Given the description of an element on the screen output the (x, y) to click on. 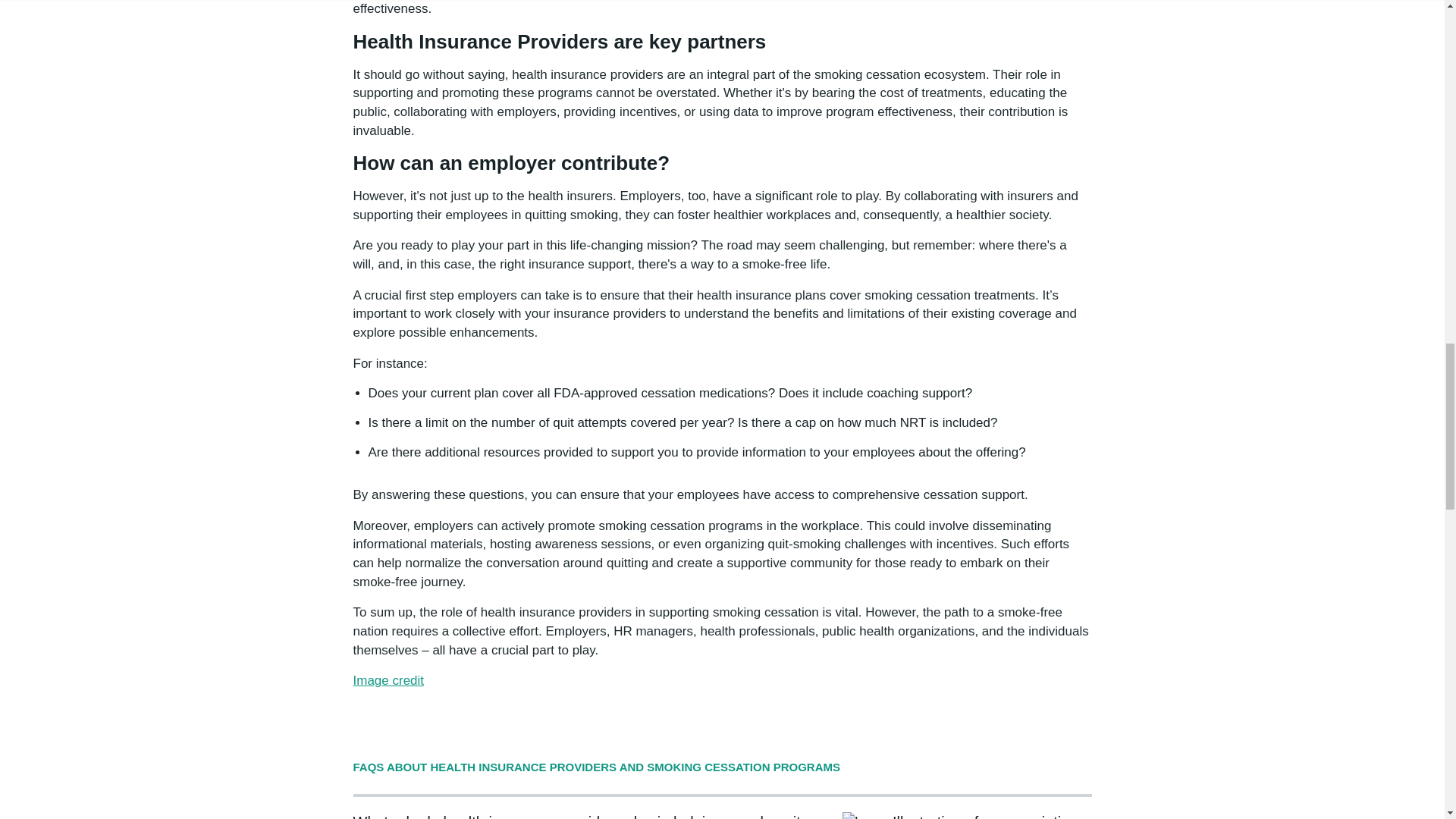
Image credit (389, 680)
